Given the description of an element on the screen output the (x, y) to click on. 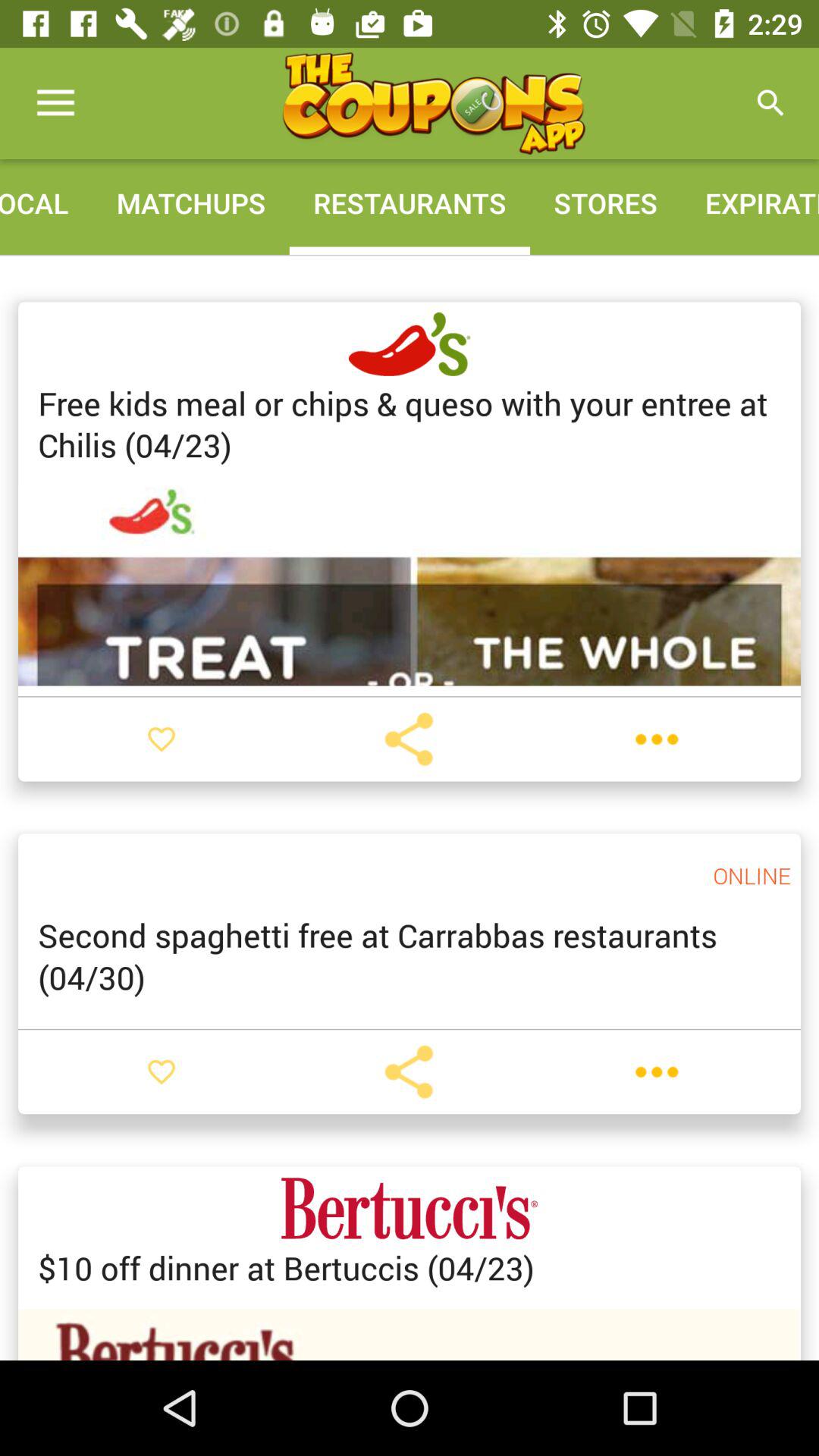
see more options (656, 739)
